Given the description of an element on the screen output the (x, y) to click on. 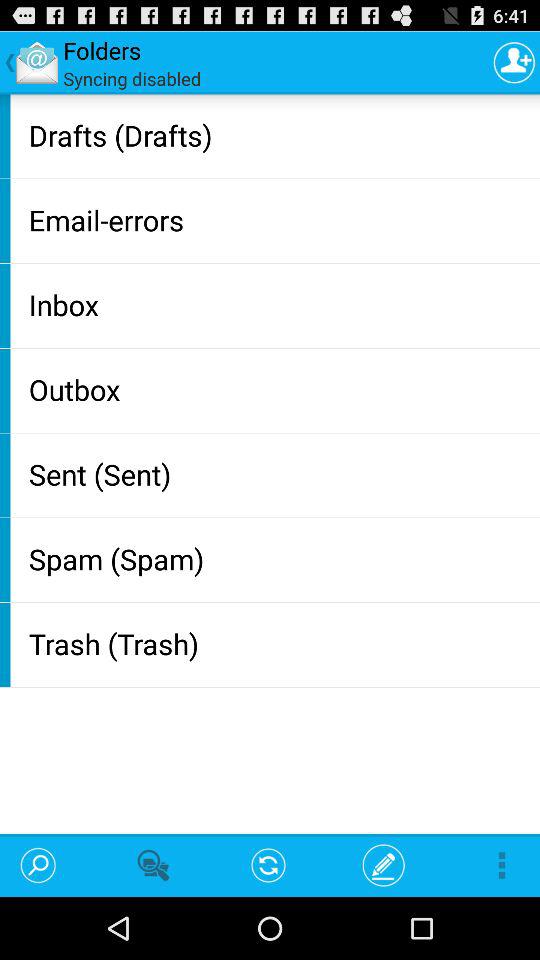
press the item below email-errors app (280, 304)
